Given the description of an element on the screen output the (x, y) to click on. 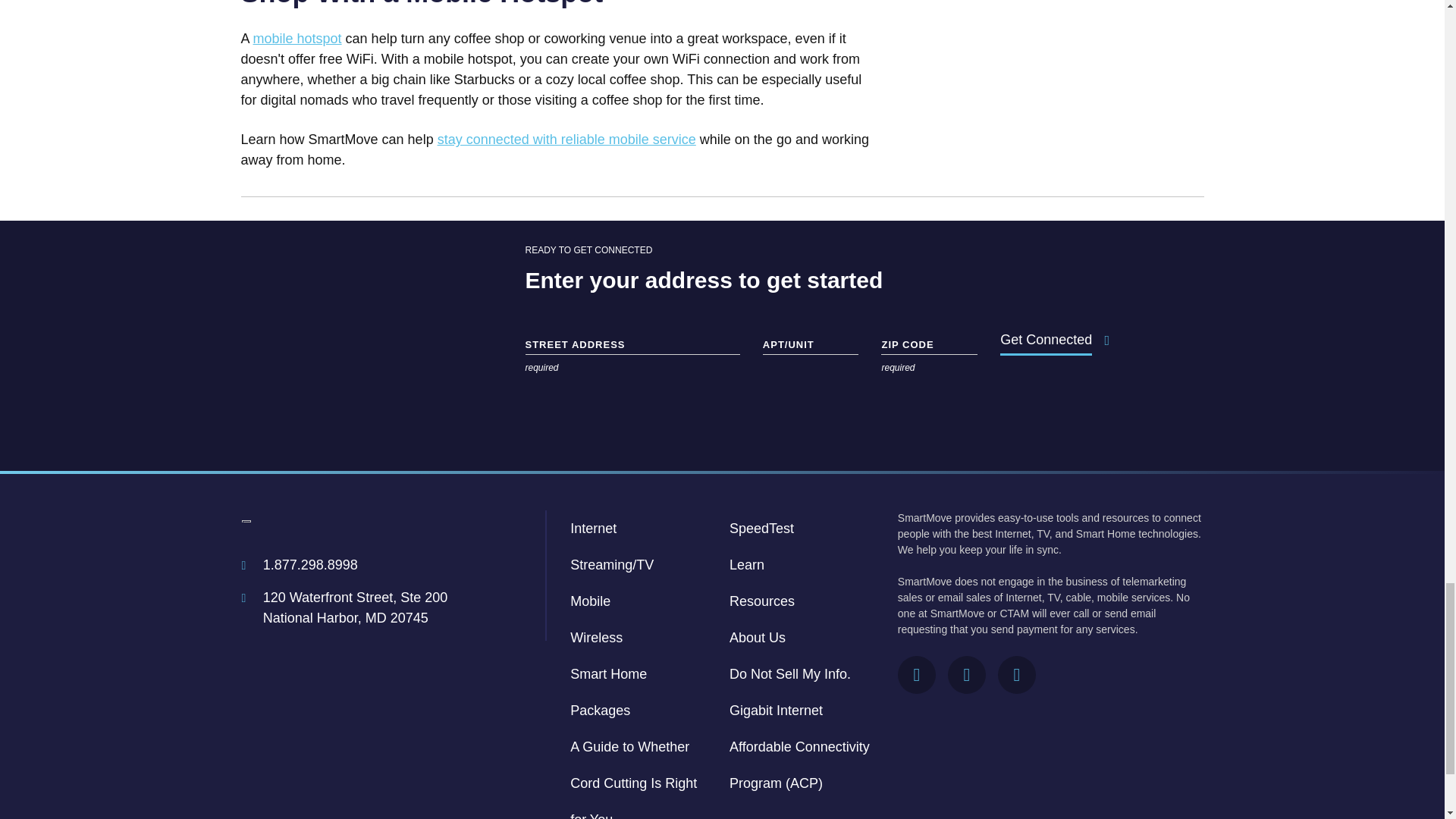
stay connected with reliable mobile service (566, 139)
Get Connected (1046, 340)
Smart Home (608, 673)
mobile hotspot (297, 38)
Wireless (596, 637)
Mobile (590, 601)
Internet (592, 528)
1.877.298.8998 (310, 565)
